Given the description of an element on the screen output the (x, y) to click on. 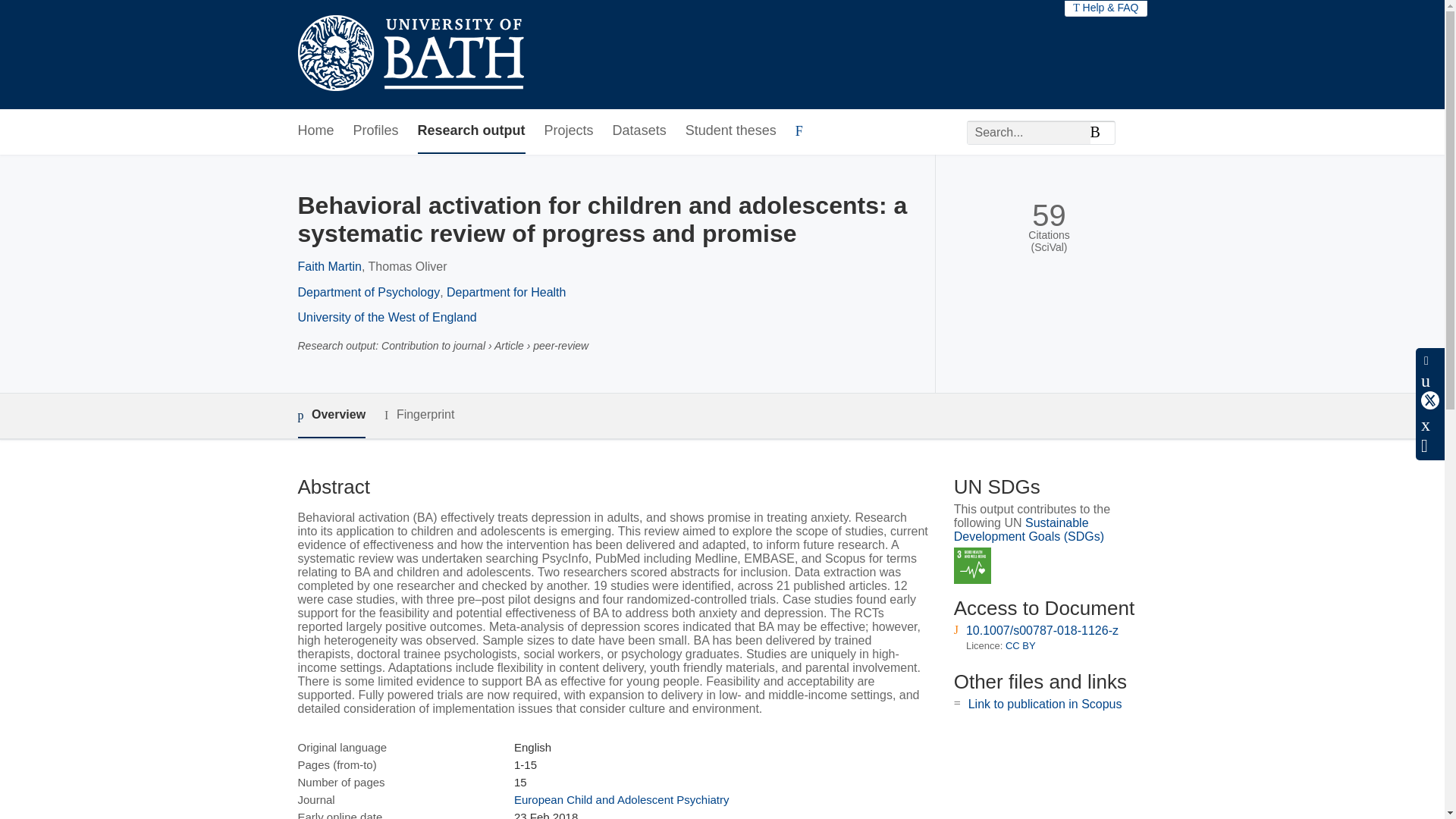
University of the West of England (386, 317)
Link to publication in Scopus (1045, 703)
Datasets (639, 130)
Department of Psychology (368, 291)
Research output (471, 130)
Projects (569, 130)
SDG 3 - Good Health and Well-being (972, 565)
Fingerprint (419, 414)
European Child and Adolescent Psychiatry (621, 799)
Faith Martin (329, 266)
